Given the description of an element on the screen output the (x, y) to click on. 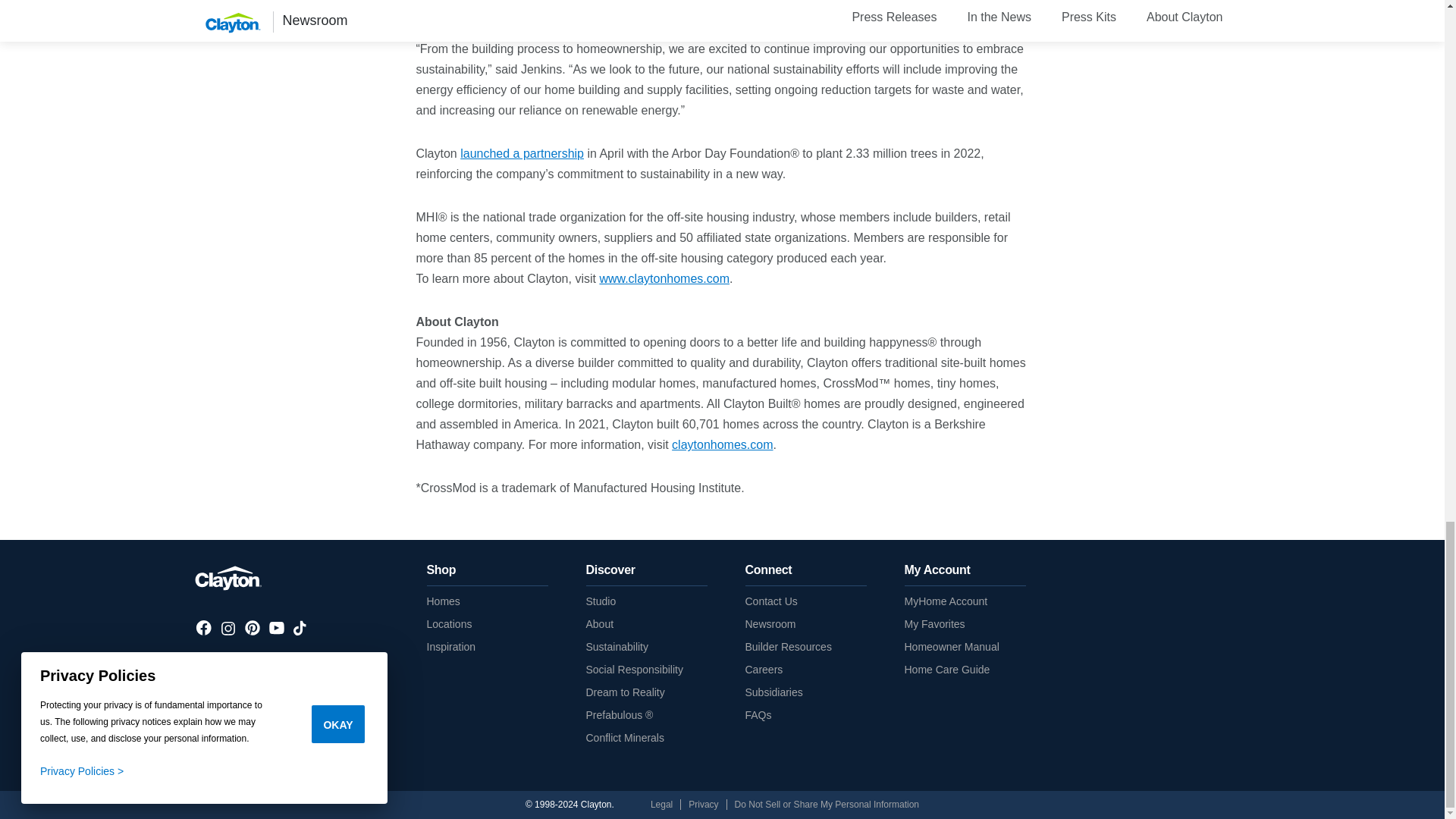
About (598, 623)
Conflict Minerals (624, 737)
Contact Us (770, 601)
Dream to Reality (624, 692)
claytonhomes.com (722, 444)
www.claytonhomes.com (663, 278)
Studio (600, 601)
Social Responsibility (633, 669)
FAQs (757, 715)
Homes (443, 601)
Locations (448, 623)
Sustainability (616, 646)
MyHome Account (945, 601)
Careers (763, 669)
Subsidiaries (773, 692)
